Given the description of an element on the screen output the (x, y) to click on. 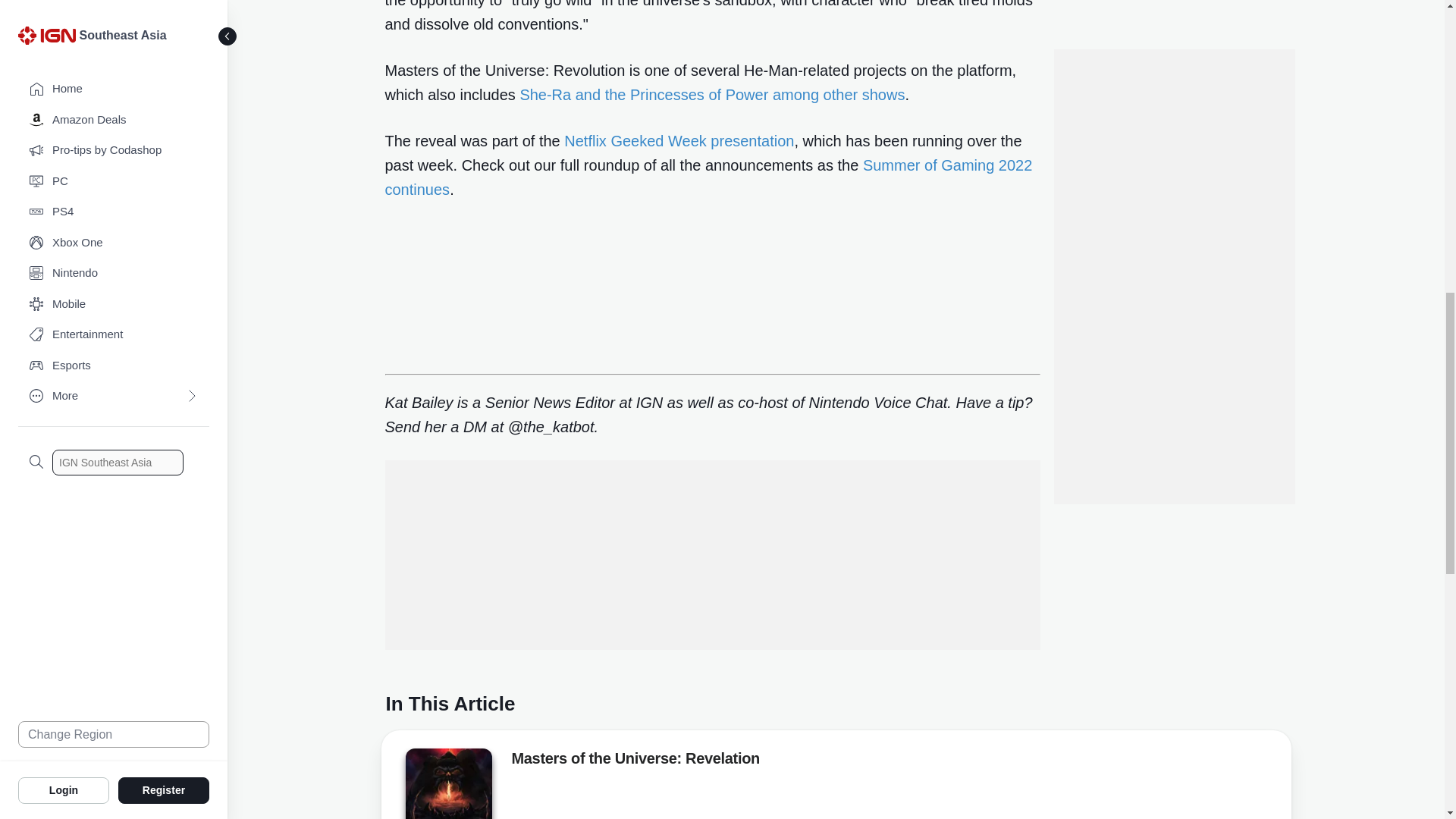
Masters of the Universe: Revelation (448, 783)
Masters of the Universe: Revelation (634, 761)
Masters of the Universe: Revelation (448, 785)
